Given the description of an element on the screen output the (x, y) to click on. 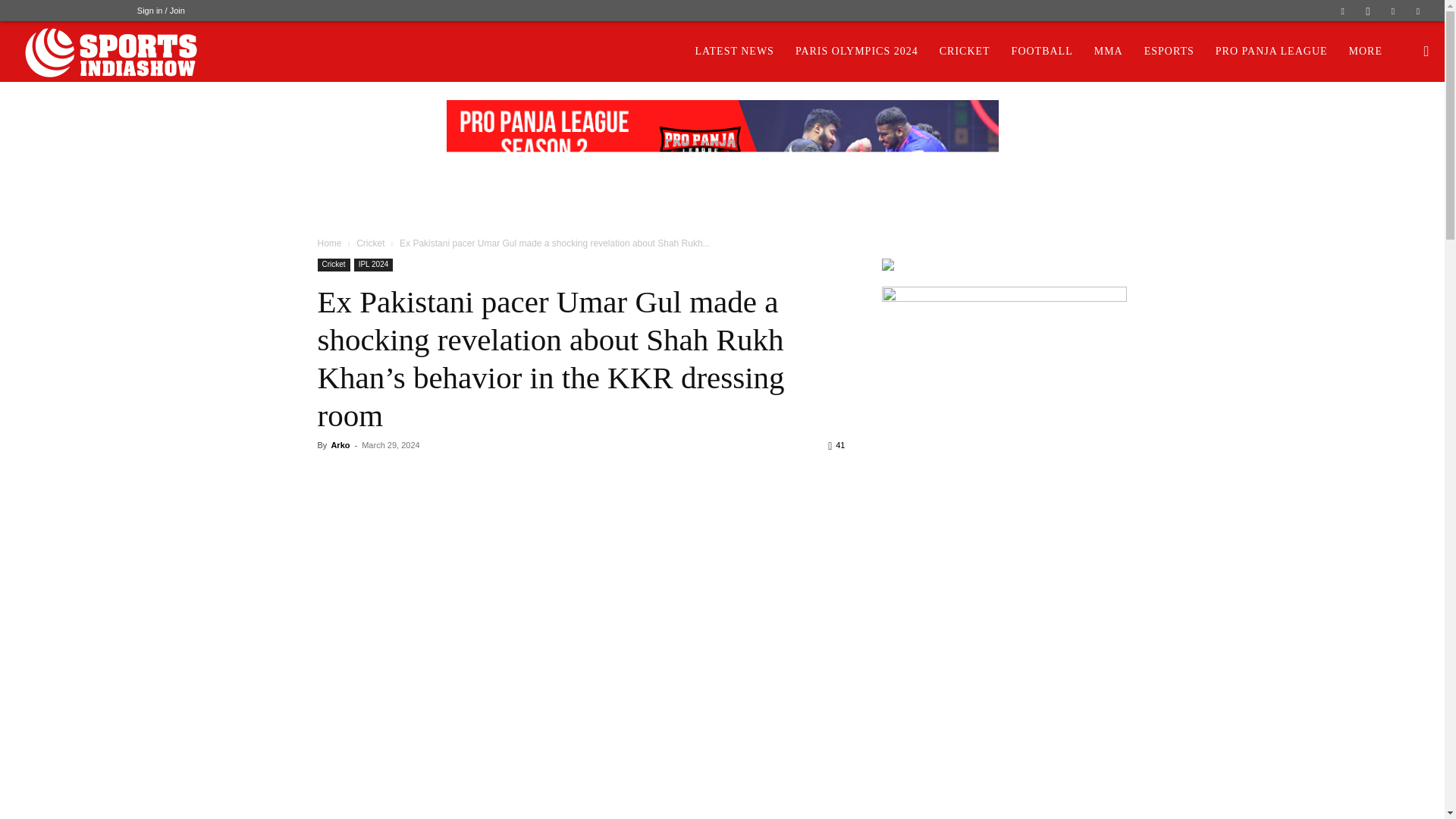
Twitter (1393, 10)
Facebook (1343, 10)
Instagram (1367, 10)
Youtube (1417, 10)
